Given the description of an element on the screen output the (x, y) to click on. 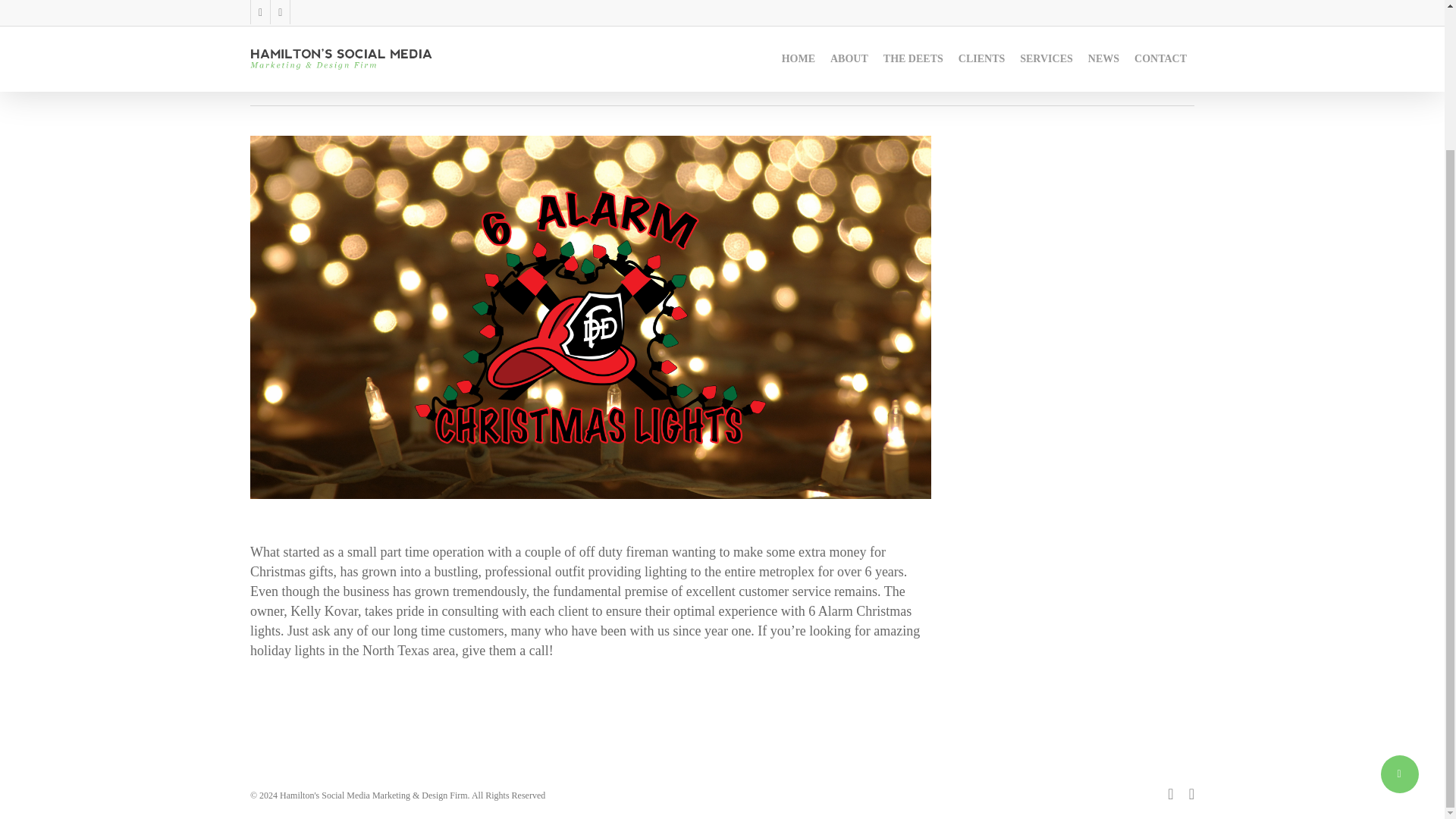
Uncategorized (705, 58)
No Comments (1122, 28)
